Given the description of an element on the screen output the (x, y) to click on. 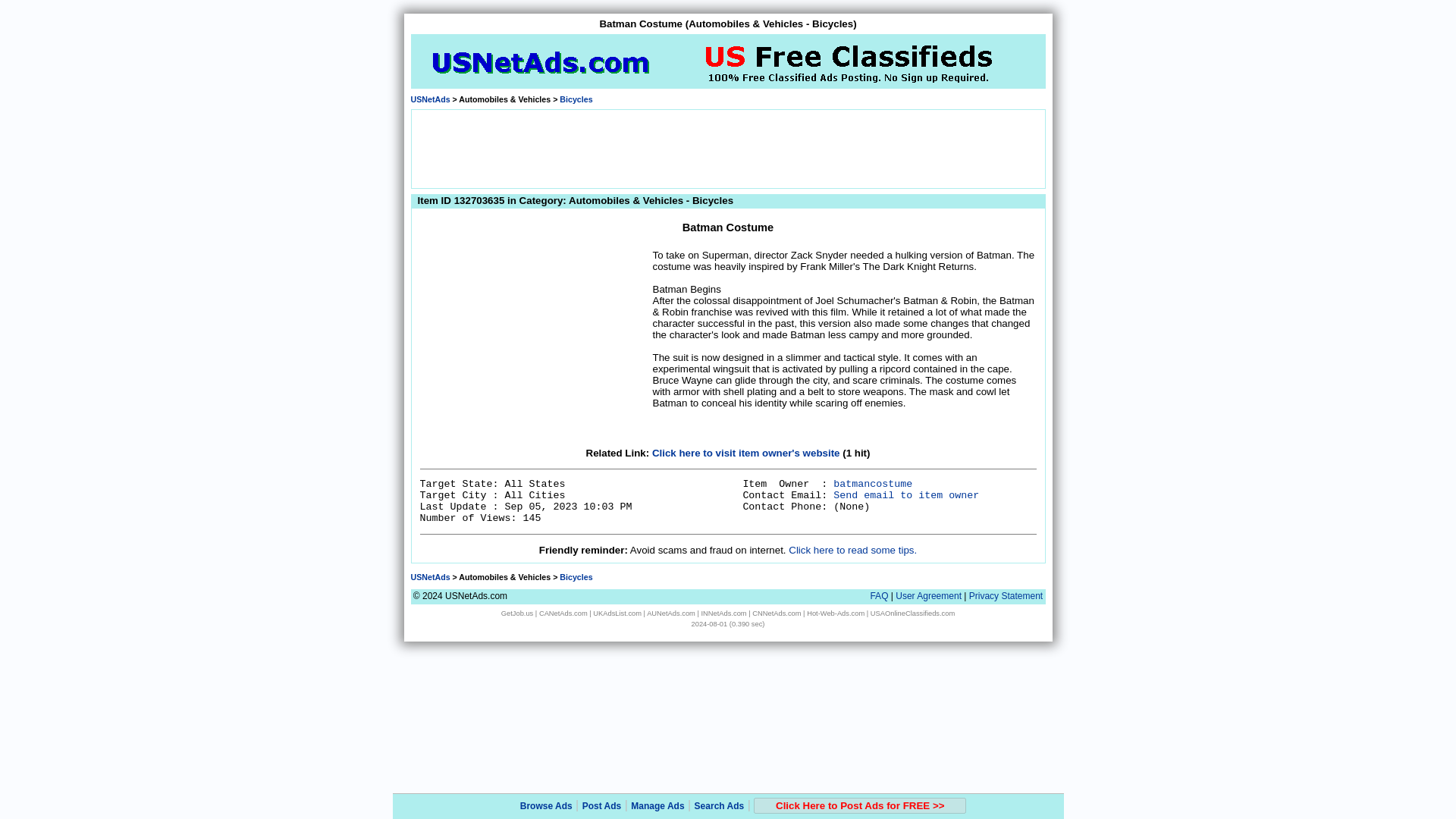
batmancostume (872, 483)
Go Back to USNetAds.com Home Page (429, 576)
CNNetAds.com (776, 613)
Click here to visit item owner's website (746, 452)
USNetAds (429, 99)
USAOnlineClassifieds.com (912, 613)
Click here to read some tips. (853, 550)
UKAdsList.com (617, 613)
Send email to item owner (905, 495)
USNetAds (429, 576)
Bicycles (575, 576)
FAQ (878, 595)
AUNetAds.com (670, 613)
INNetAds.com (722, 613)
Bicycles (575, 99)
